Given the description of an element on the screen output the (x, y) to click on. 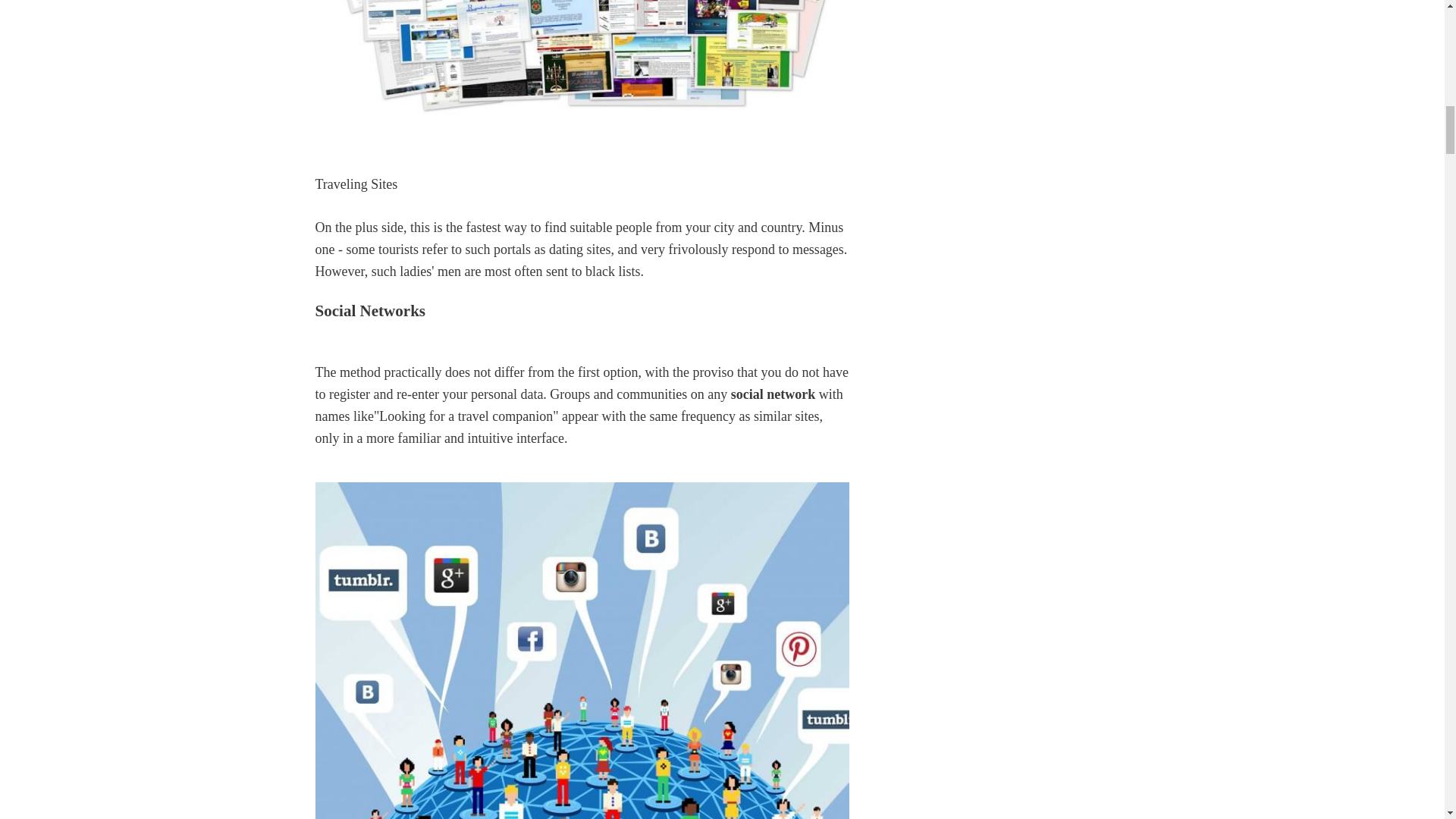
Traveling Sites (581, 58)
